Given the description of an element on the screen output the (x, y) to click on. 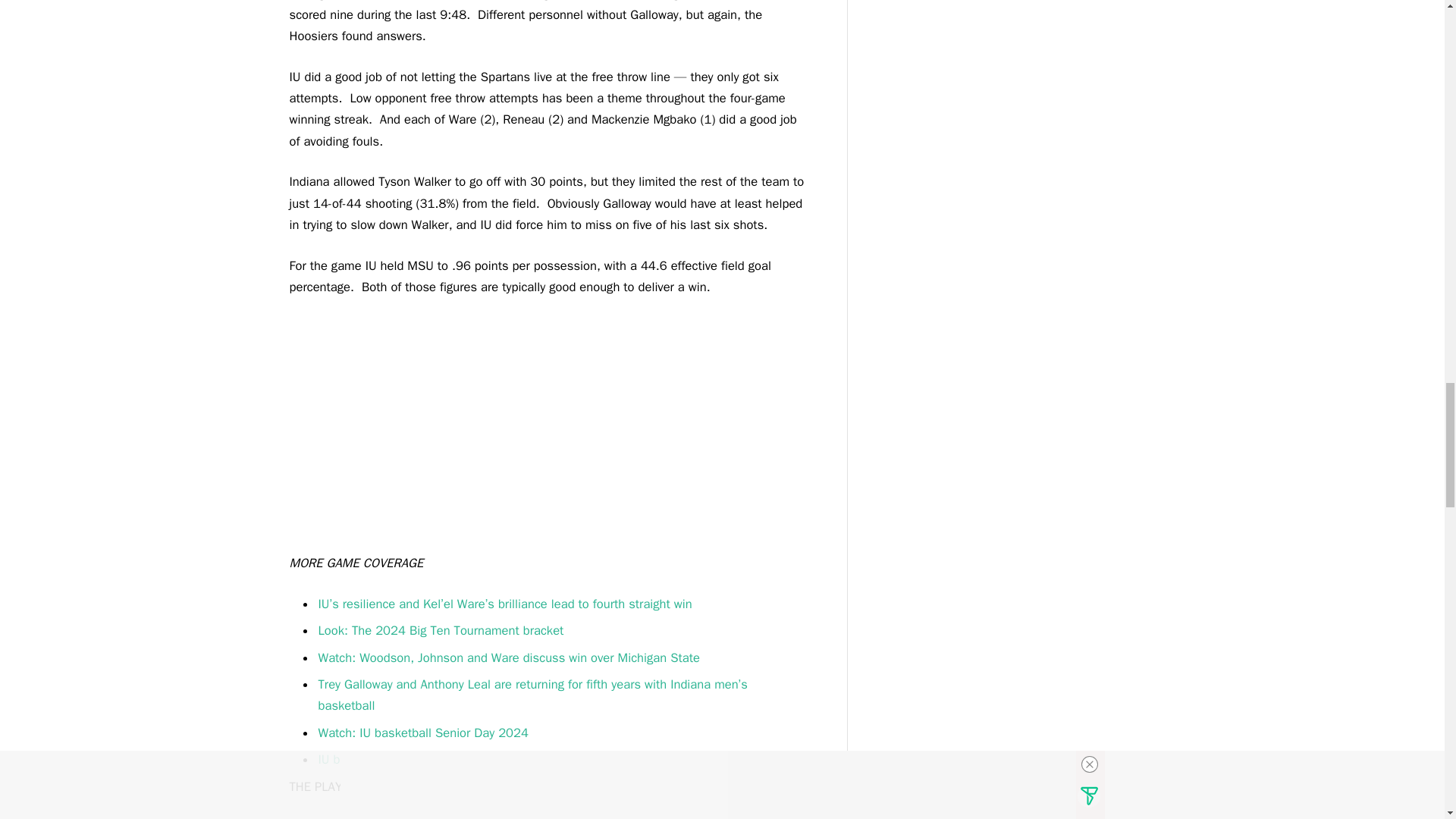
3rd party ad content (546, 432)
